Given the description of an element on the screen output the (x, y) to click on. 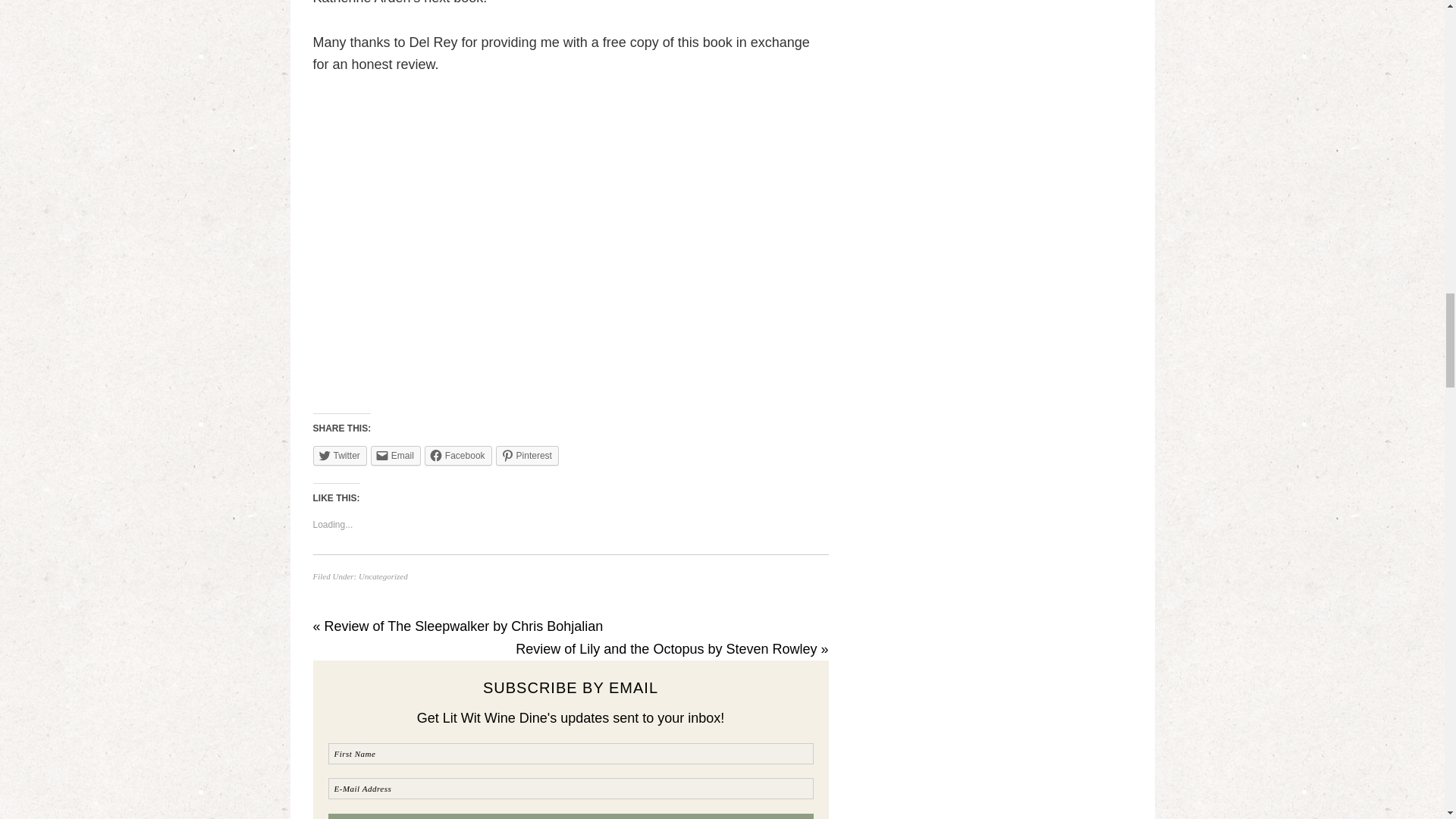
Click to share on Twitter (339, 455)
Twitter (339, 455)
Uncategorized (382, 575)
Pinterest (527, 455)
Click to share on Facebook (458, 455)
Email (395, 455)
Facebook (458, 455)
Click to share on Pinterest (527, 455)
Click to email a link to a friend (395, 455)
